Given the description of an element on the screen output the (x, y) to click on. 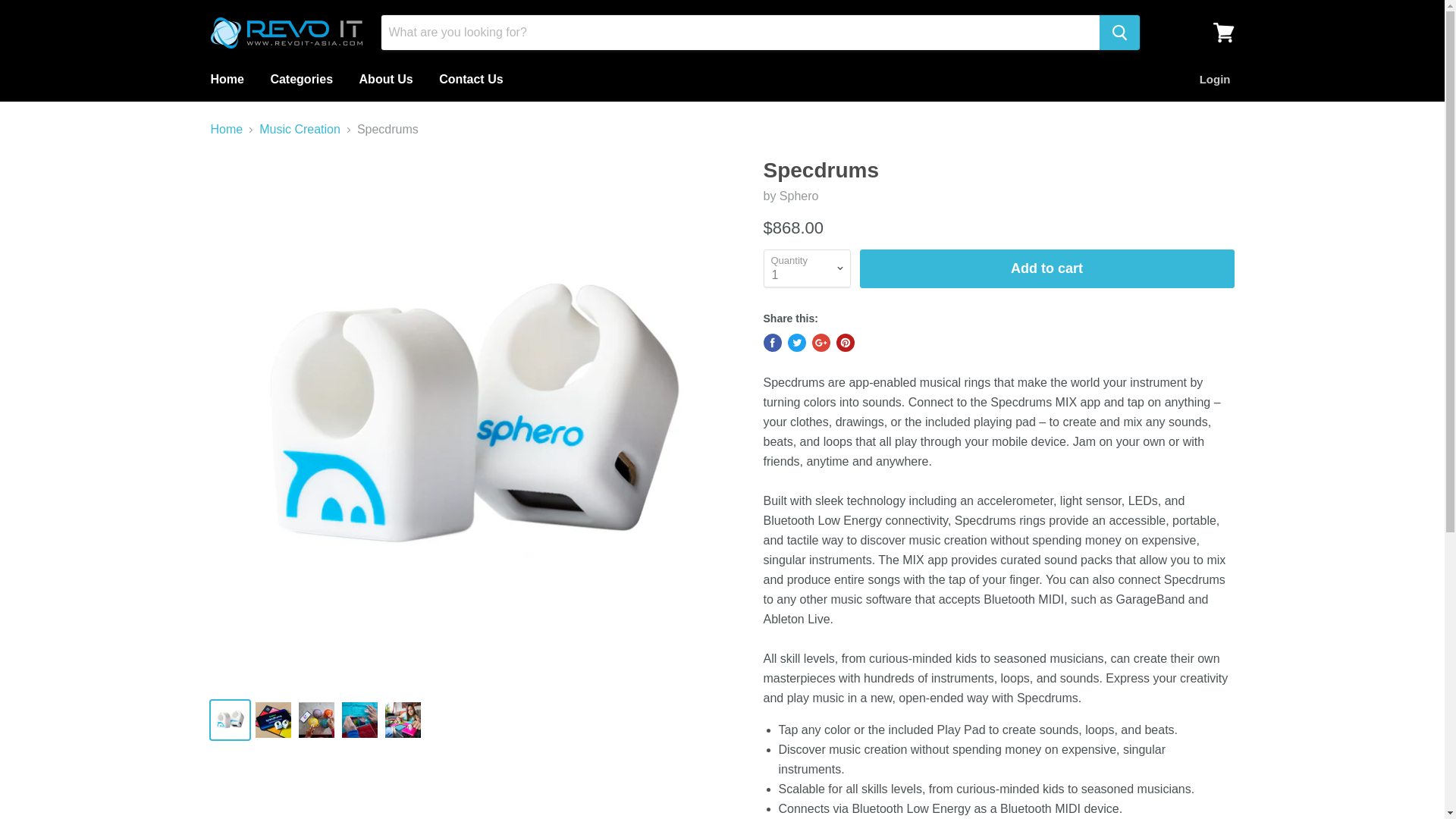
Add to cart (1047, 268)
Home (226, 79)
View cart (1223, 32)
Home (227, 129)
Pin on Pinterest (844, 342)
Categories (301, 79)
Music Creation (299, 129)
Share on Facebook (771, 342)
About Us (386, 79)
Contact Us (470, 79)
